Given the description of an element on the screen output the (x, y) to click on. 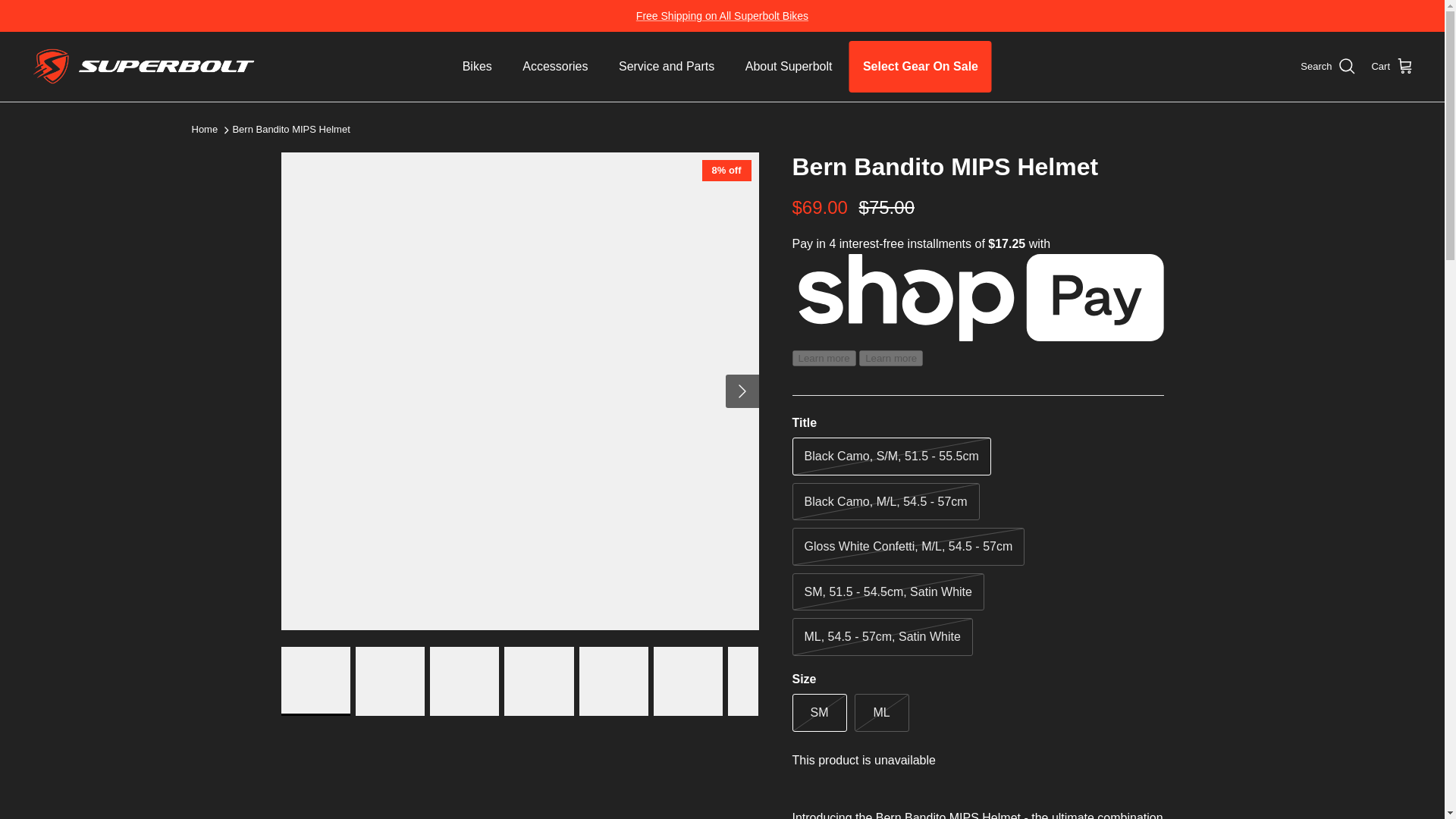
About Superbolt (788, 66)
Free Shipping on All Superbolt Bikes (722, 15)
Service and Parts (666, 66)
Bikes (476, 66)
All Superbolt Bikes (722, 15)
RIGHT (741, 391)
Superbolt (143, 66)
Cart (1392, 66)
Accessories (554, 66)
Search (1327, 66)
